Given the description of an element on the screen output the (x, y) to click on. 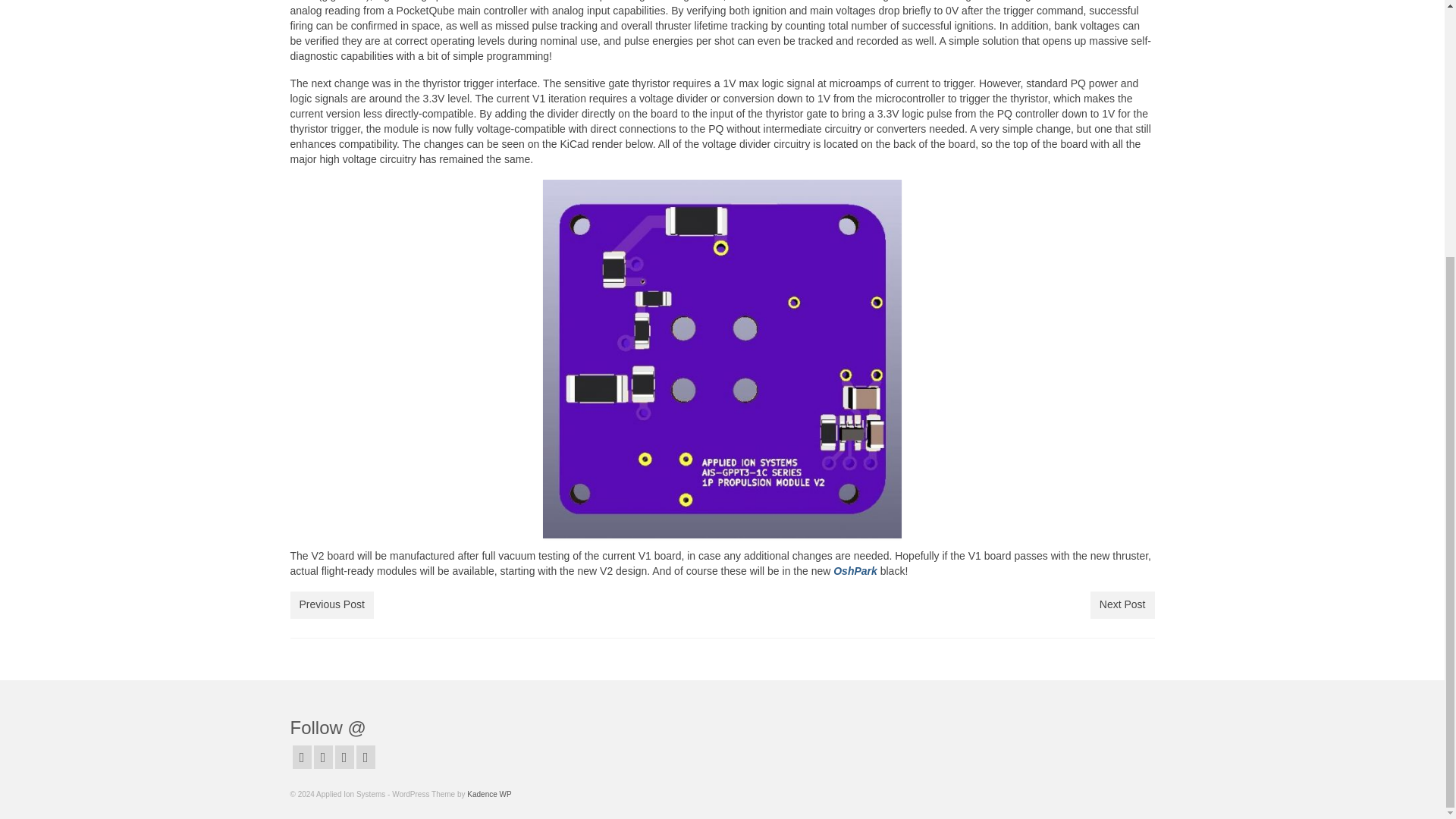
Next Post (1122, 605)
OshPark (854, 571)
Previous Post (330, 605)
